Given the description of an element on the screen output the (x, y) to click on. 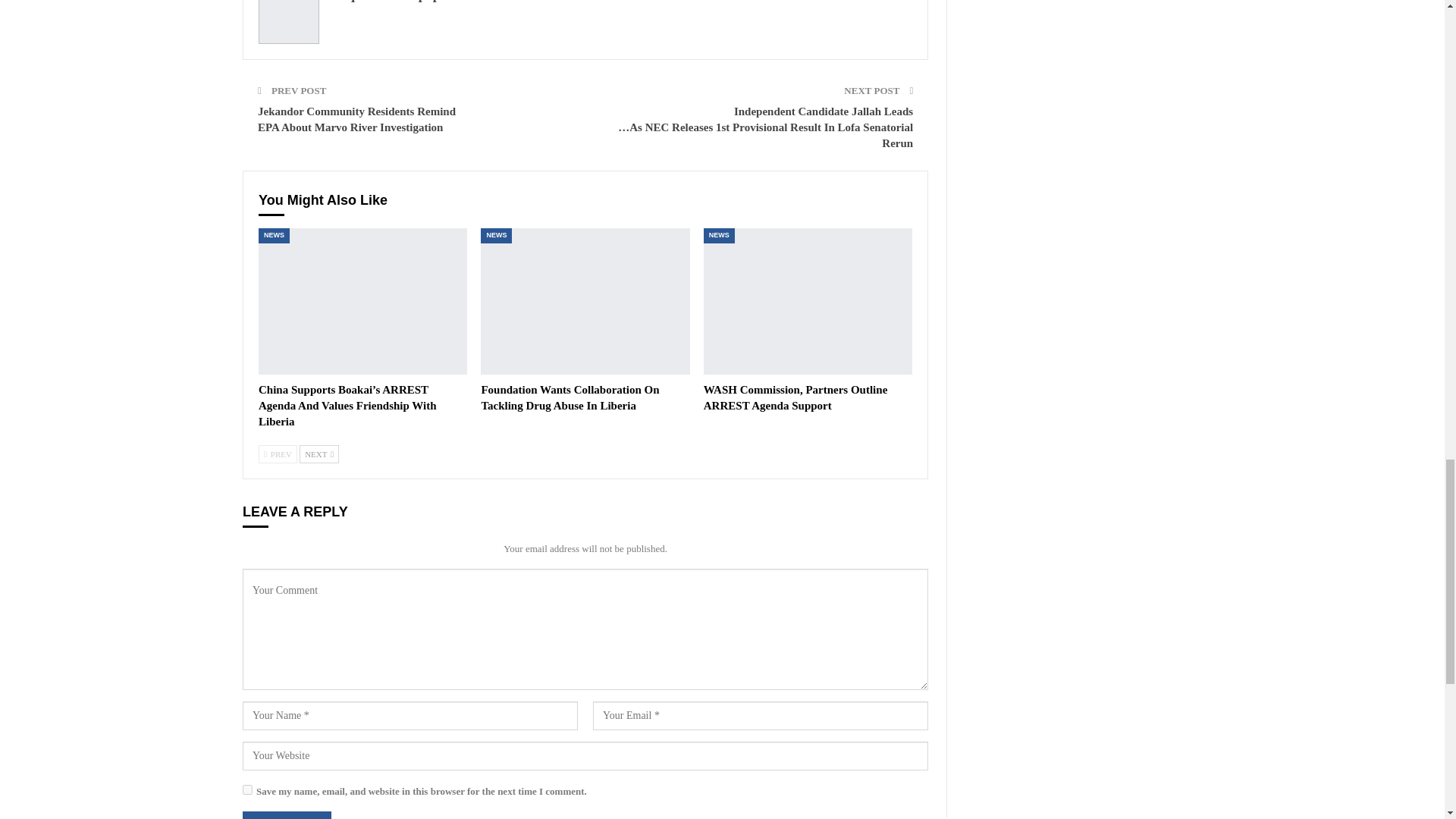
Post Comment (287, 815)
yes (247, 789)
